Given the description of an element on the screen output the (x, y) to click on. 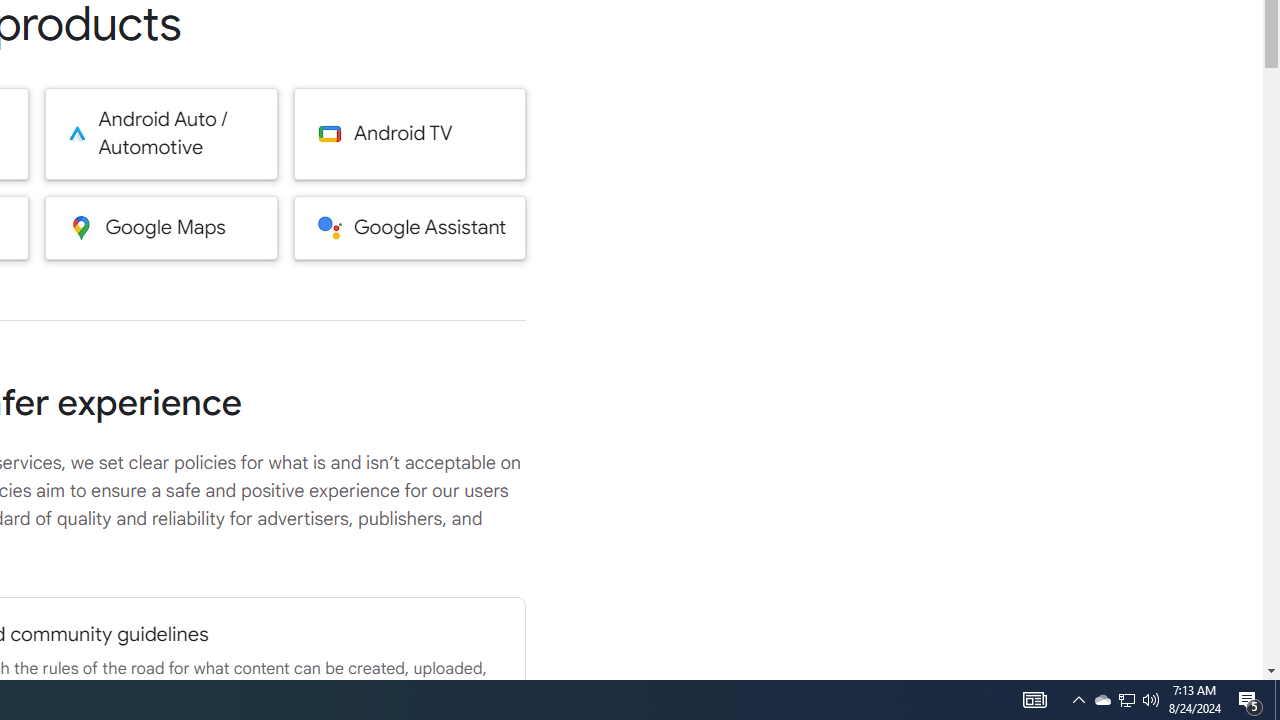
Android Auto / Automotive (160, 133)
Android TV (410, 133)
Google Assistant (410, 227)
Google Maps (160, 227)
